Given the description of an element on the screen output the (x, y) to click on. 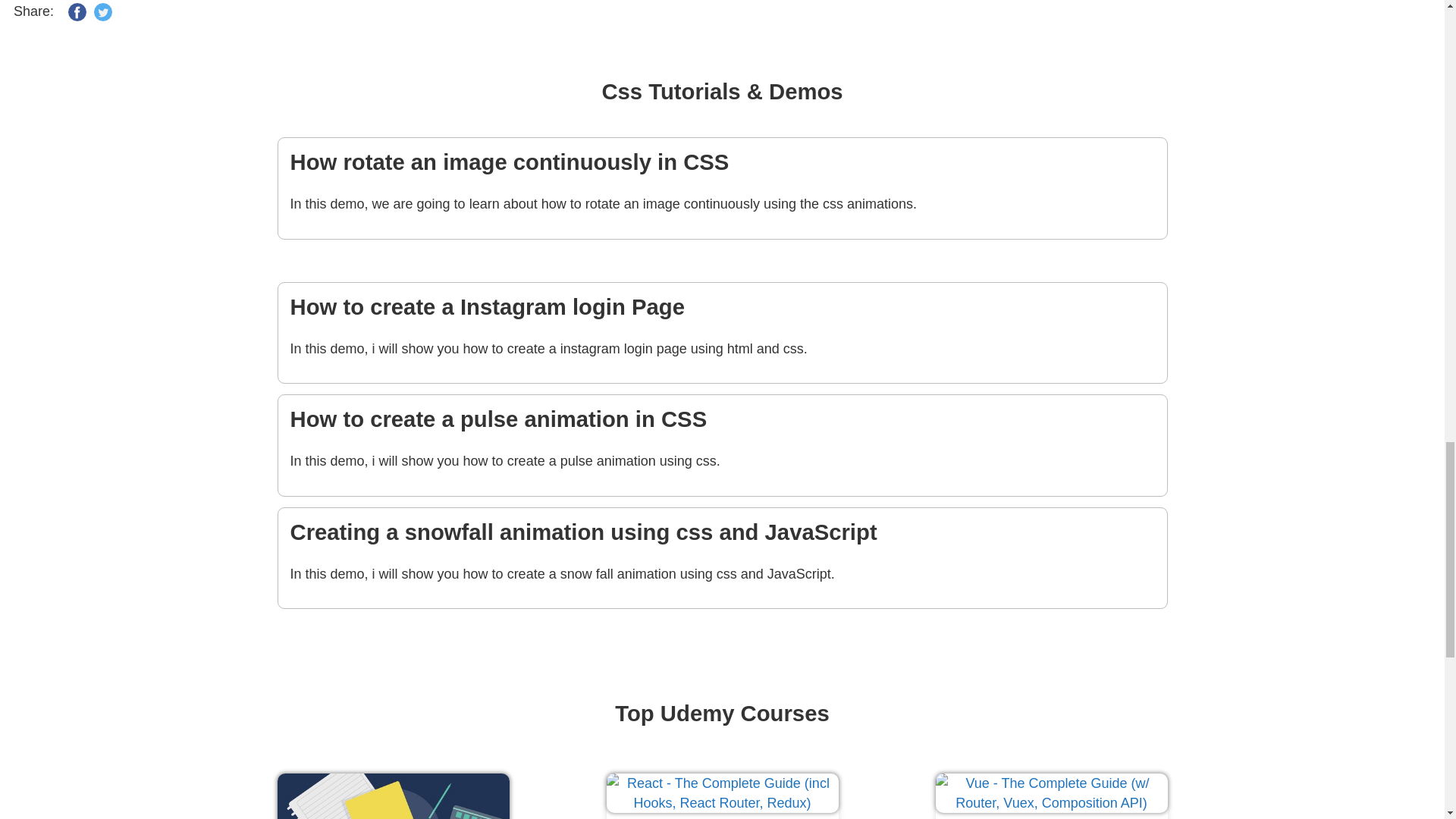
Creating a snowfall animation using css and JavaScript (721, 532)
How to create a pulse animation in CSS (721, 419)
How to create a Instagram login Page (721, 306)
How rotate an image continuously in CSS (721, 161)
